Given the description of an element on the screen output the (x, y) to click on. 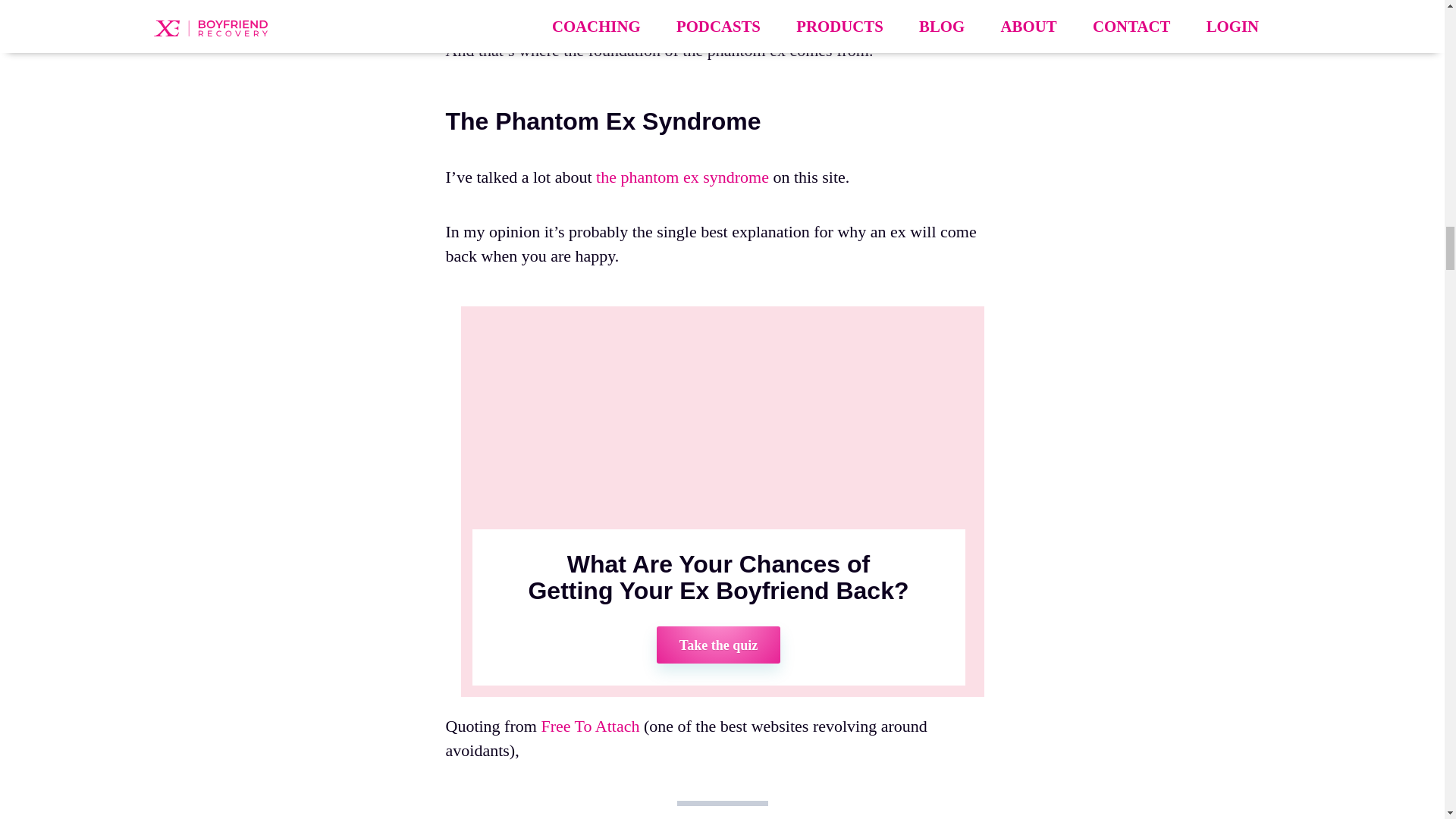
Take the quiz (718, 644)
Free To Attach (589, 725)
the phantom ex syndrome (681, 176)
